Given the description of an element on the screen output the (x, y) to click on. 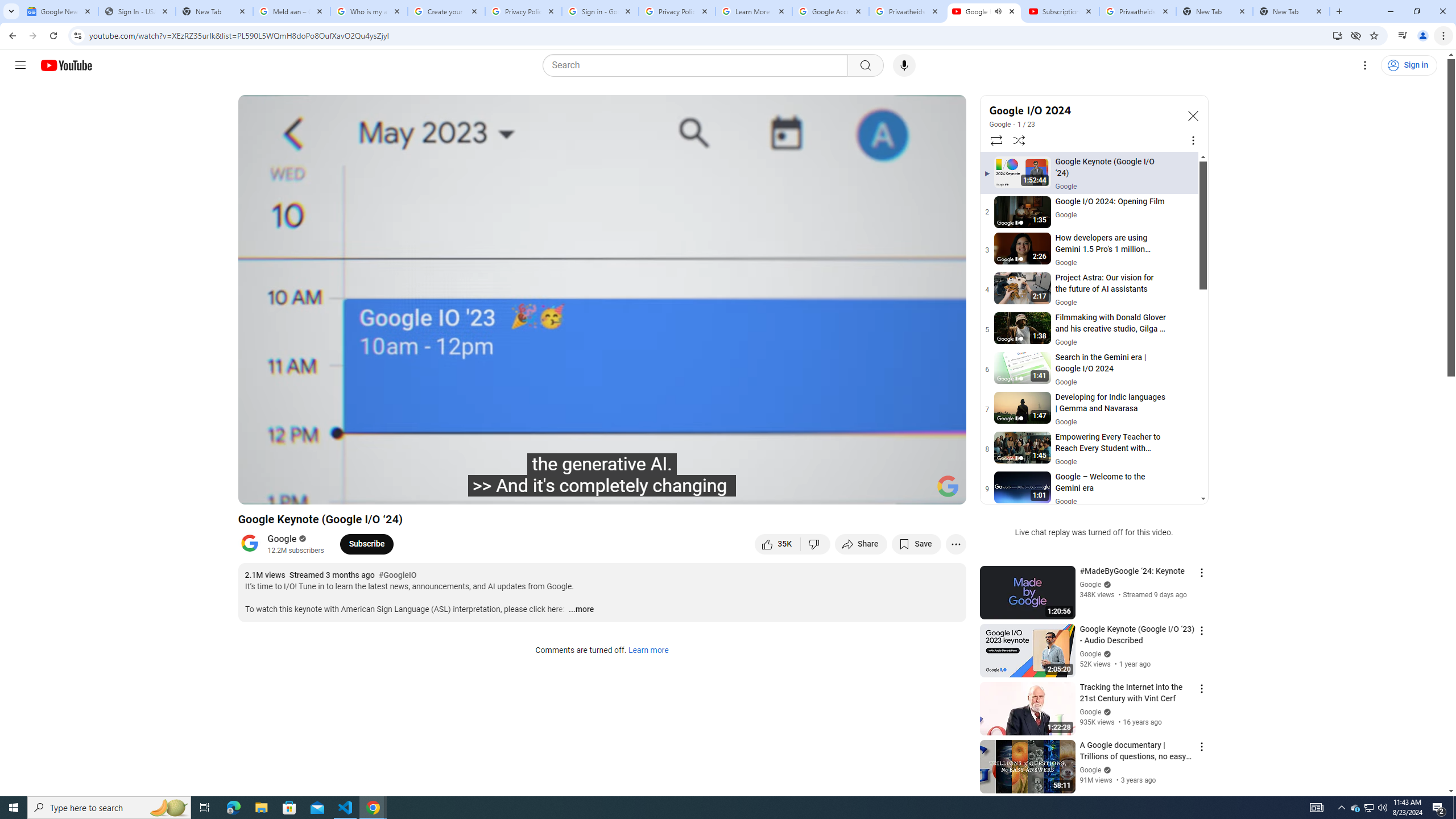
Dislike this video (815, 543)
#GoogleIO (397, 575)
Subtitles/closed captions unavailable (836, 490)
New Tab (1291, 11)
More actions (955, 543)
Next (SHIFT+n) (310, 490)
Settings (863, 490)
